Given the description of an element on the screen output the (x, y) to click on. 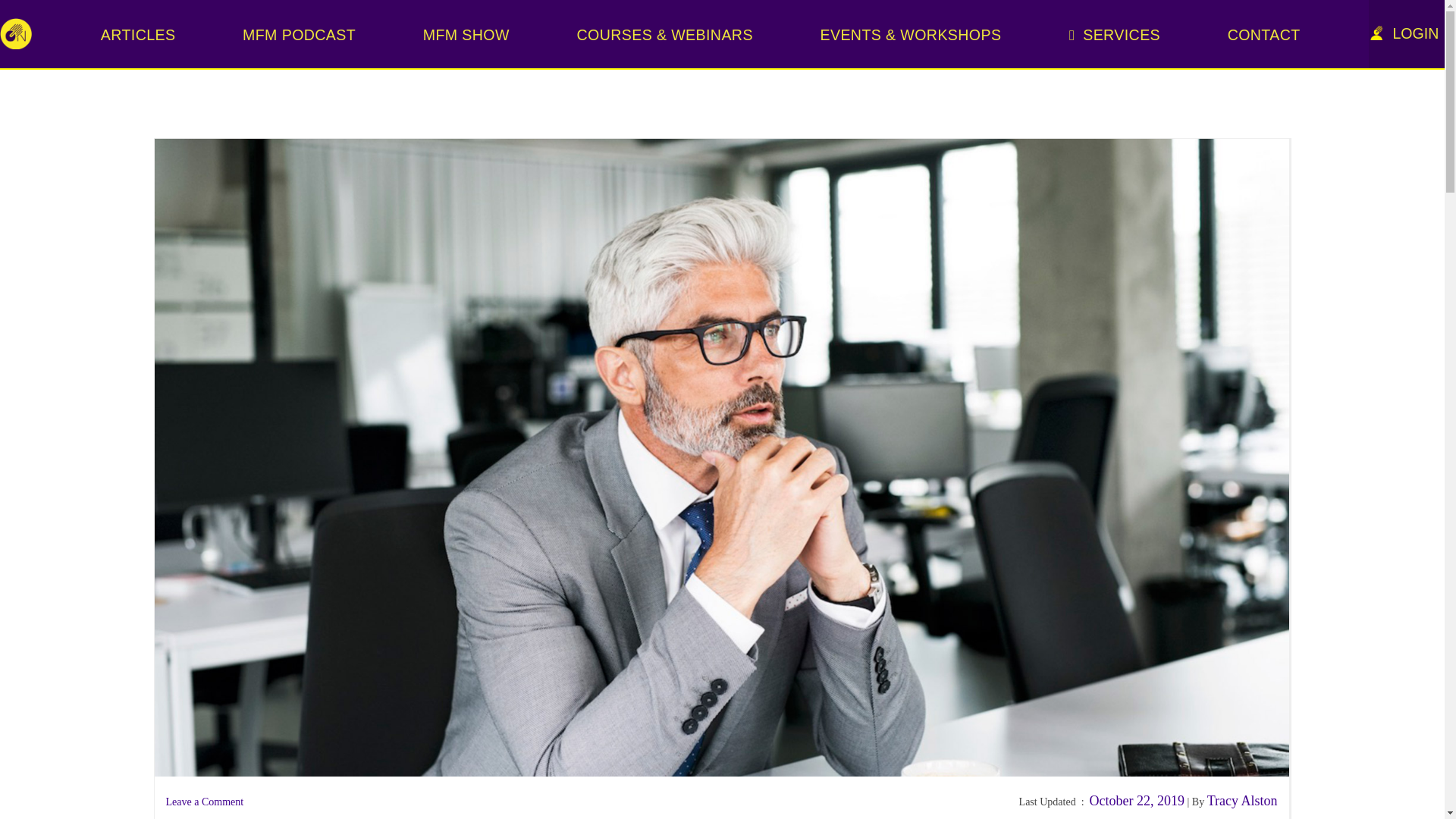
. (722, 83)
Tracy Alston (1242, 800)
SERVICES (1117, 34)
CONTACT (1267, 34)
Leave a Comment (204, 801)
October 22, 2019 (1137, 800)
. (722, 102)
ARTICLES (140, 34)
LOGIN (1406, 33)
. (1285, 83)
MFM PODCAST (301, 34)
MFM SHOW (469, 34)
